Given the description of an element on the screen output the (x, y) to click on. 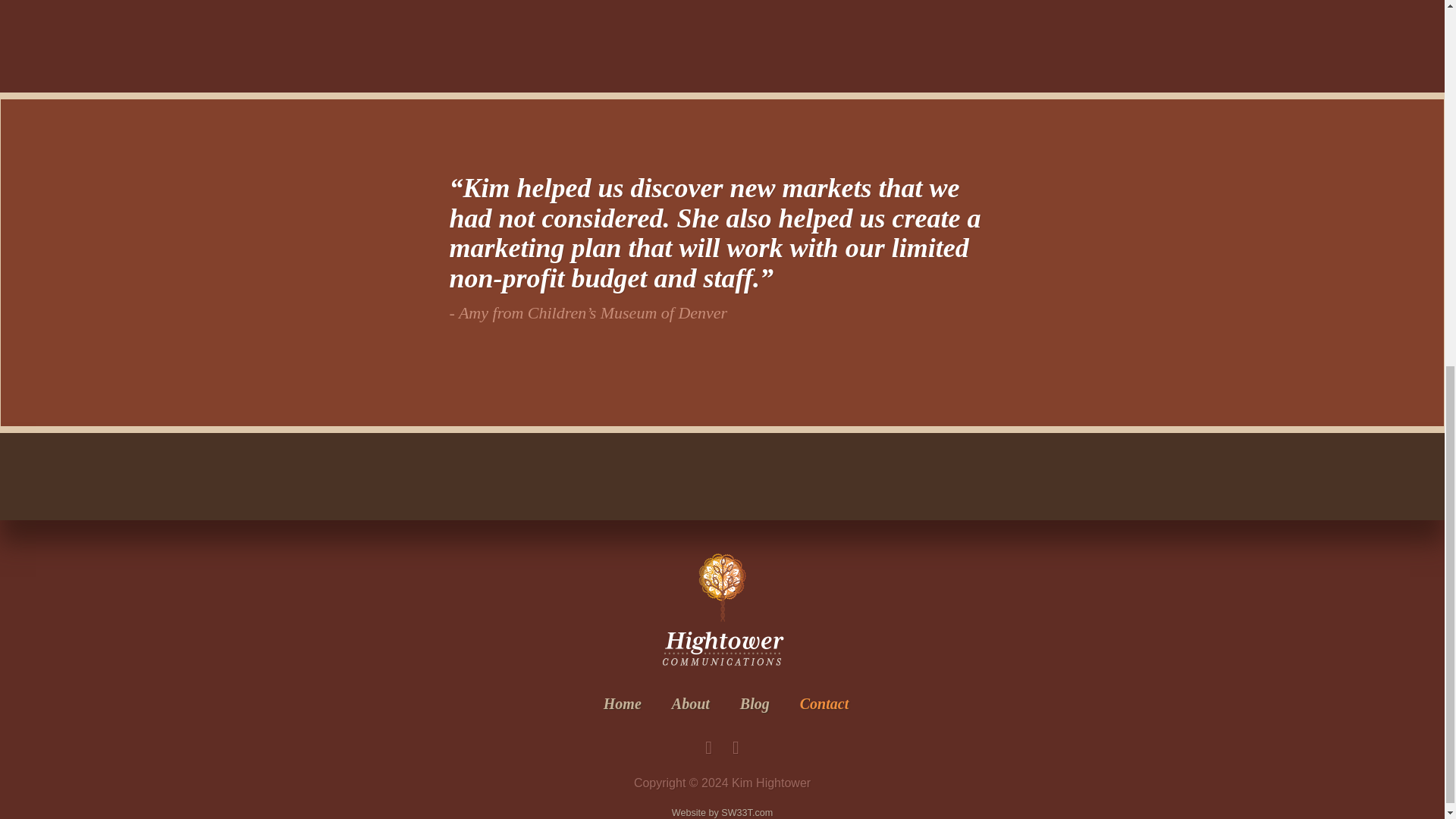
Website by SW33T.com (722, 812)
Contact (820, 703)
About (690, 703)
Home (622, 703)
Blog (754, 703)
